Given the description of an element on the screen output the (x, y) to click on. 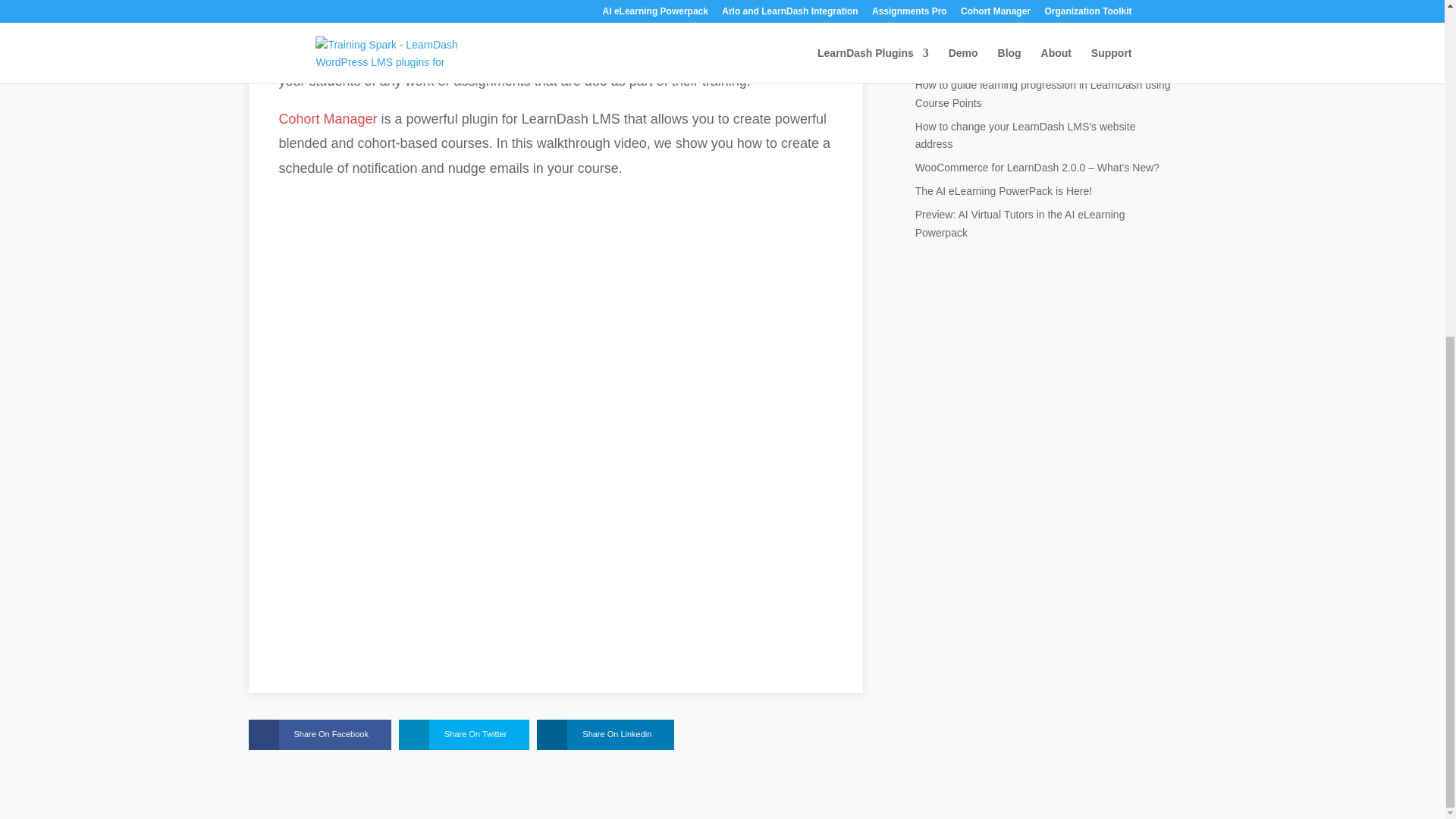
Share On Twitter (452, 734)
Share On Linkedin (972, 11)
Share On Facebook (308, 734)
Cohort Manager (328, 118)
Share On Linkedin (593, 734)
Preview: AI Virtual Tutors in the AI eLearning Powerpack (1020, 223)
The AI eLearning PowerPack is Here! (1003, 191)
